Given the description of an element on the screen output the (x, y) to click on. 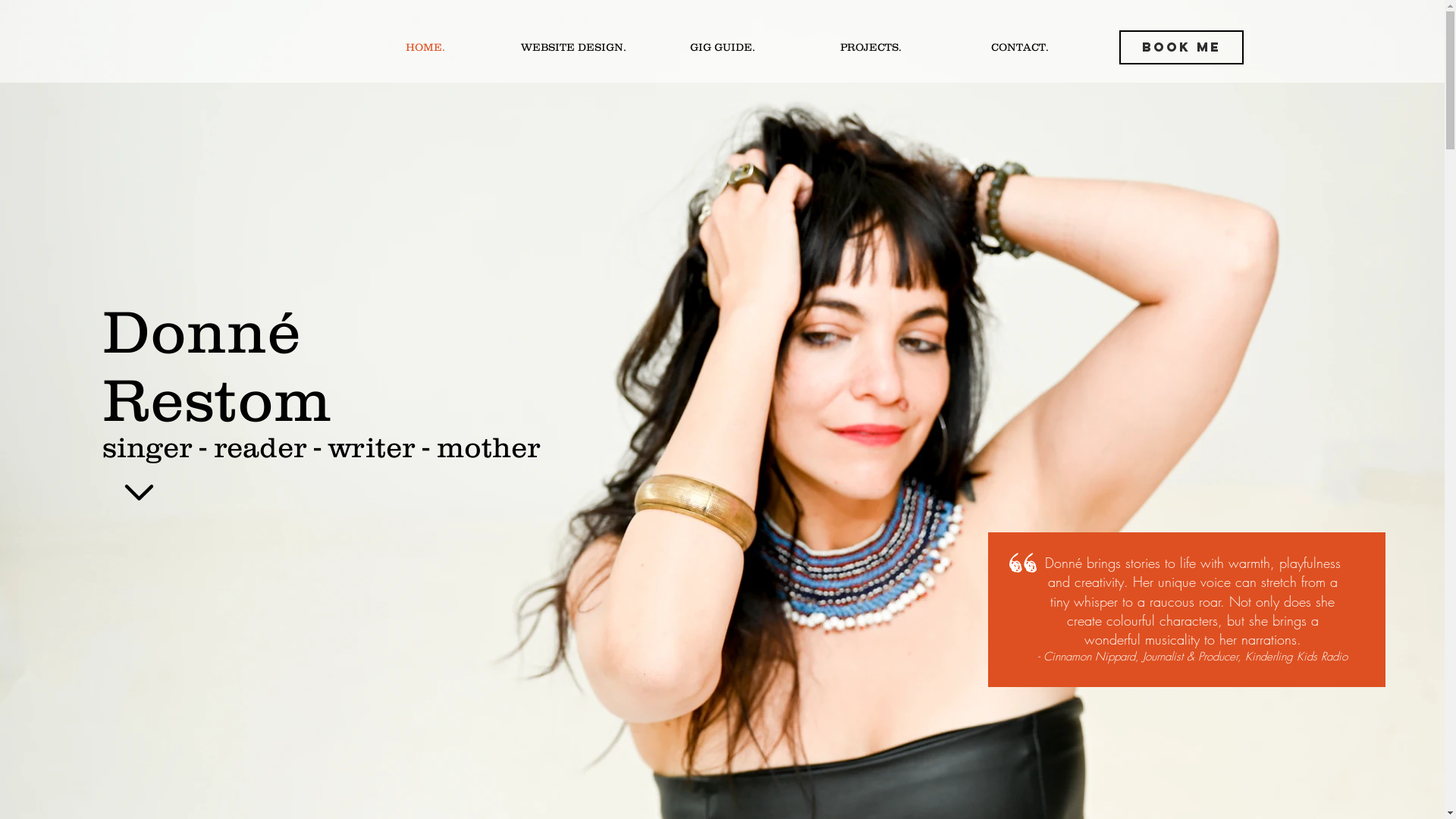
BOOK ME Element type: text (1181, 47)
CONTACT. Element type: text (1018, 47)
PROJECTS. Element type: text (870, 47)
GIG GUIDE. Element type: text (721, 47)
WEBSITE DESIGN. Element type: text (572, 47)
HOME. Element type: text (424, 47)
